Given the description of an element on the screen output the (x, y) to click on. 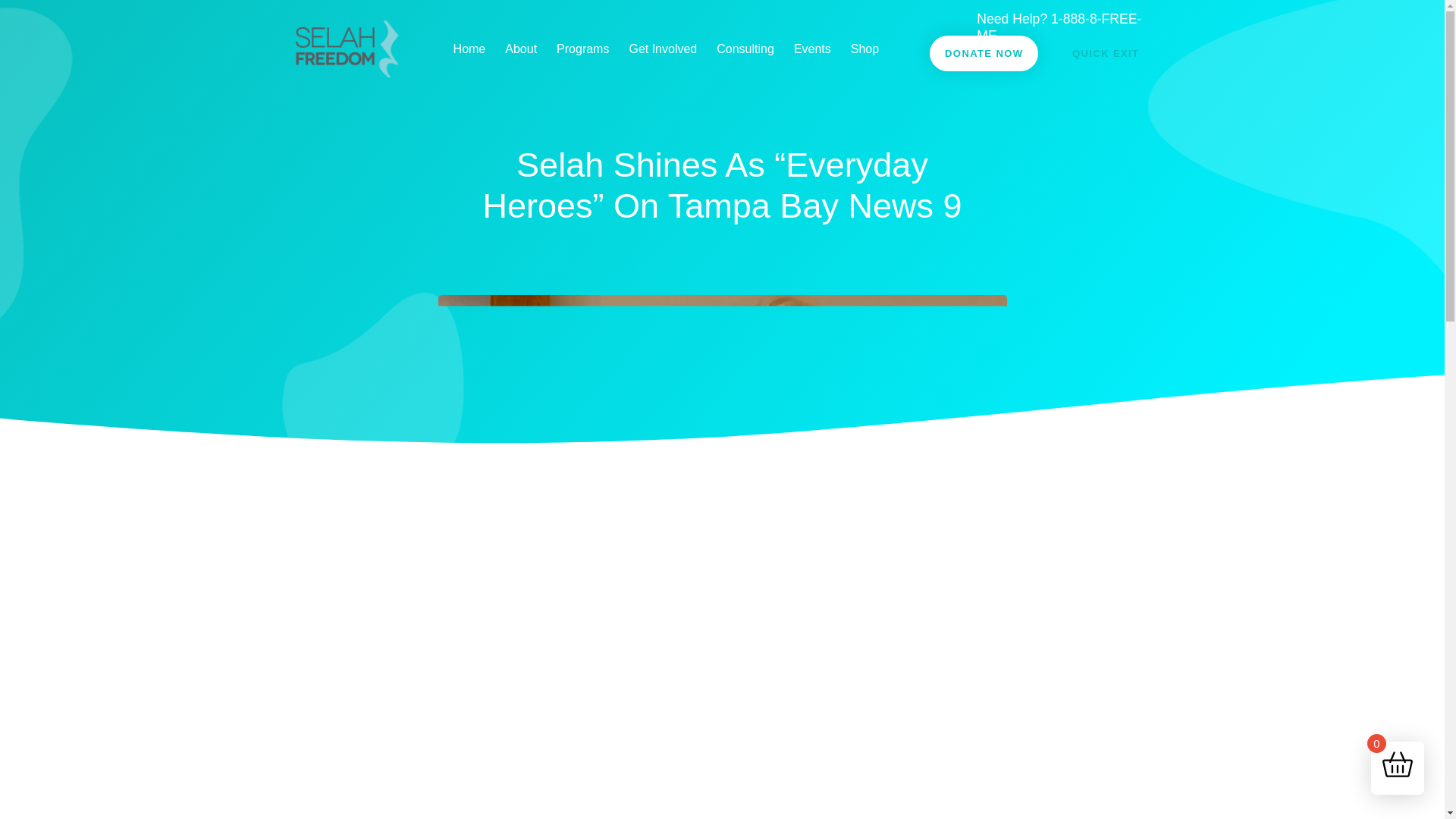
Programs (582, 49)
Consulting (745, 49)
Get Involved (662, 49)
